Given the description of an element on the screen output the (x, y) to click on. 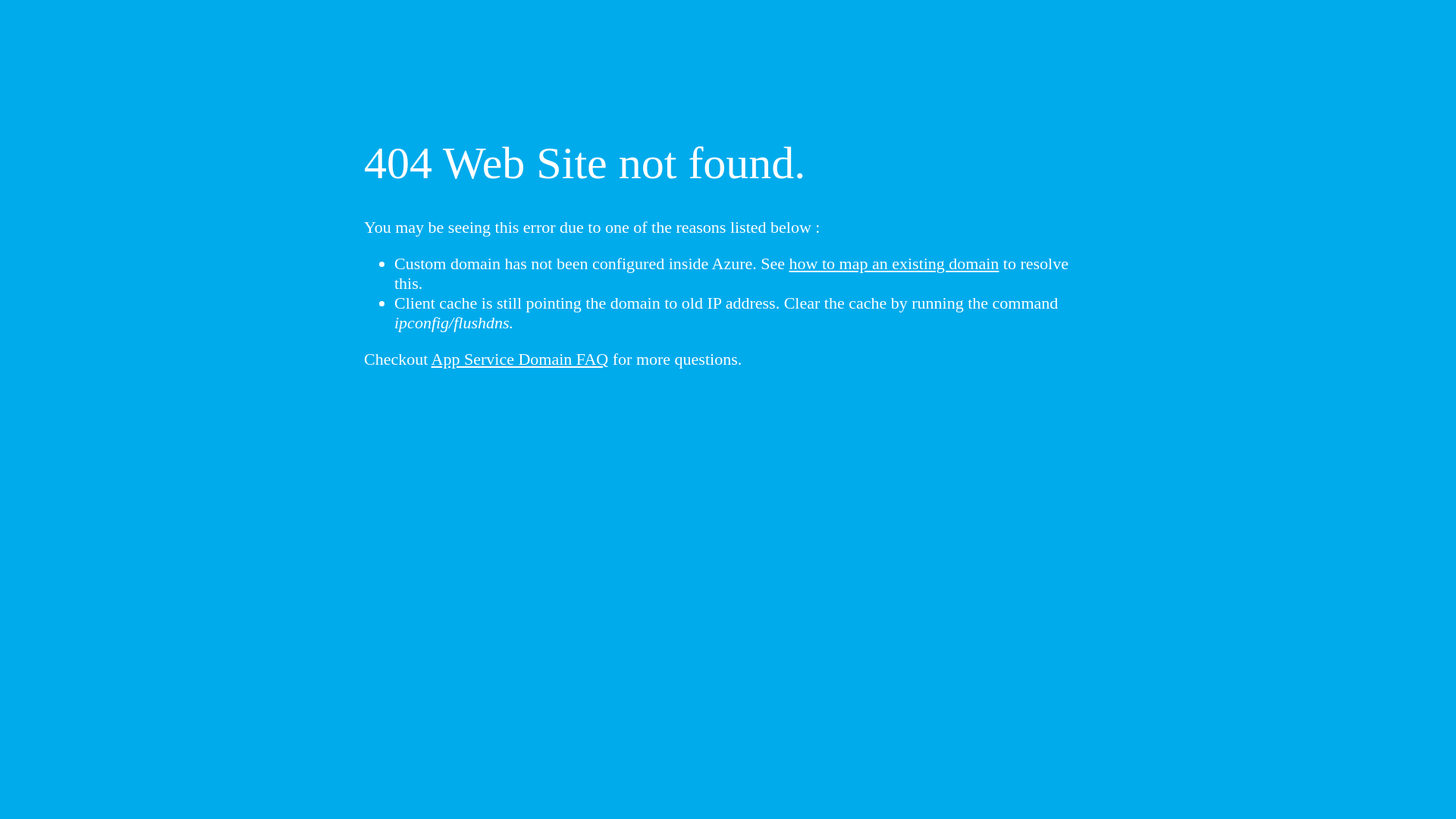
how to map an existing domain Element type: text (894, 263)
App Service Domain FAQ Element type: text (519, 358)
